Given the description of an element on the screen output the (x, y) to click on. 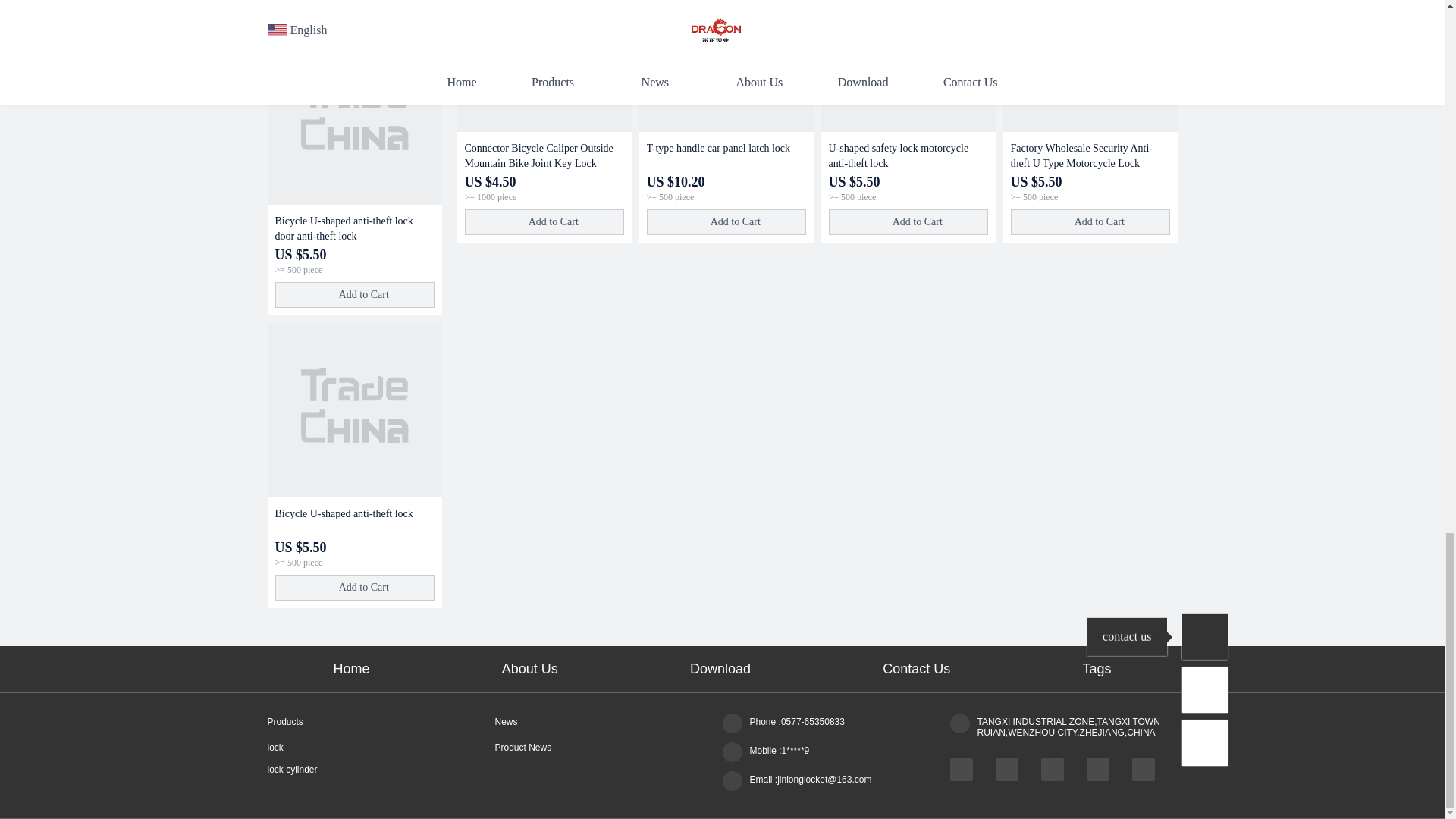
Bicycle U-shaped anti-theft lock door anti-theft lock (354, 228)
T-type handle car panel latch lock (725, 65)
Factory Wholesale Security Anti-theft U Type Motorcycle Lock (1089, 155)
U-shaped safety lock motorcycle anti-theft lock (907, 155)
Bicycle U-shaped anti-theft lock door anti-theft lock (353, 117)
Bicycle U-shaped anti-theft lock (353, 409)
U-shaped safety lock motorcycle anti-theft lock (907, 65)
T-type handle car panel latch lock (725, 155)
